Given the description of an element on the screen output the (x, y) to click on. 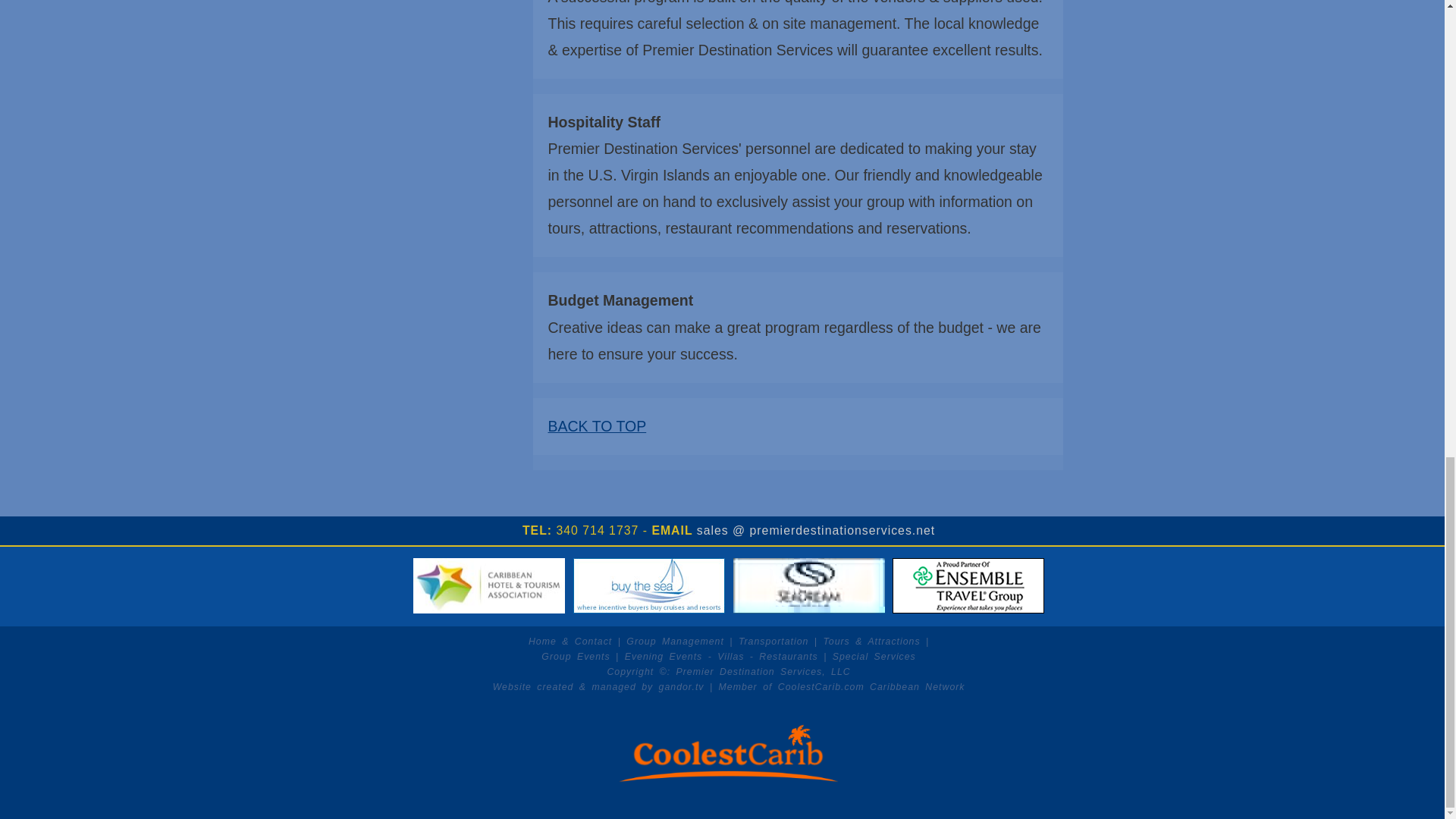
Evening Events - Villas - Restaurants (721, 652)
CoolestCarib.com Caribbean Network (871, 683)
Group Management (674, 637)
Special Services (873, 652)
Transportation (773, 637)
BACK TO TOP (596, 425)
Group Events (575, 652)
Premier Destination Services, LLC (762, 668)
